Given the description of an element on the screen output the (x, y) to click on. 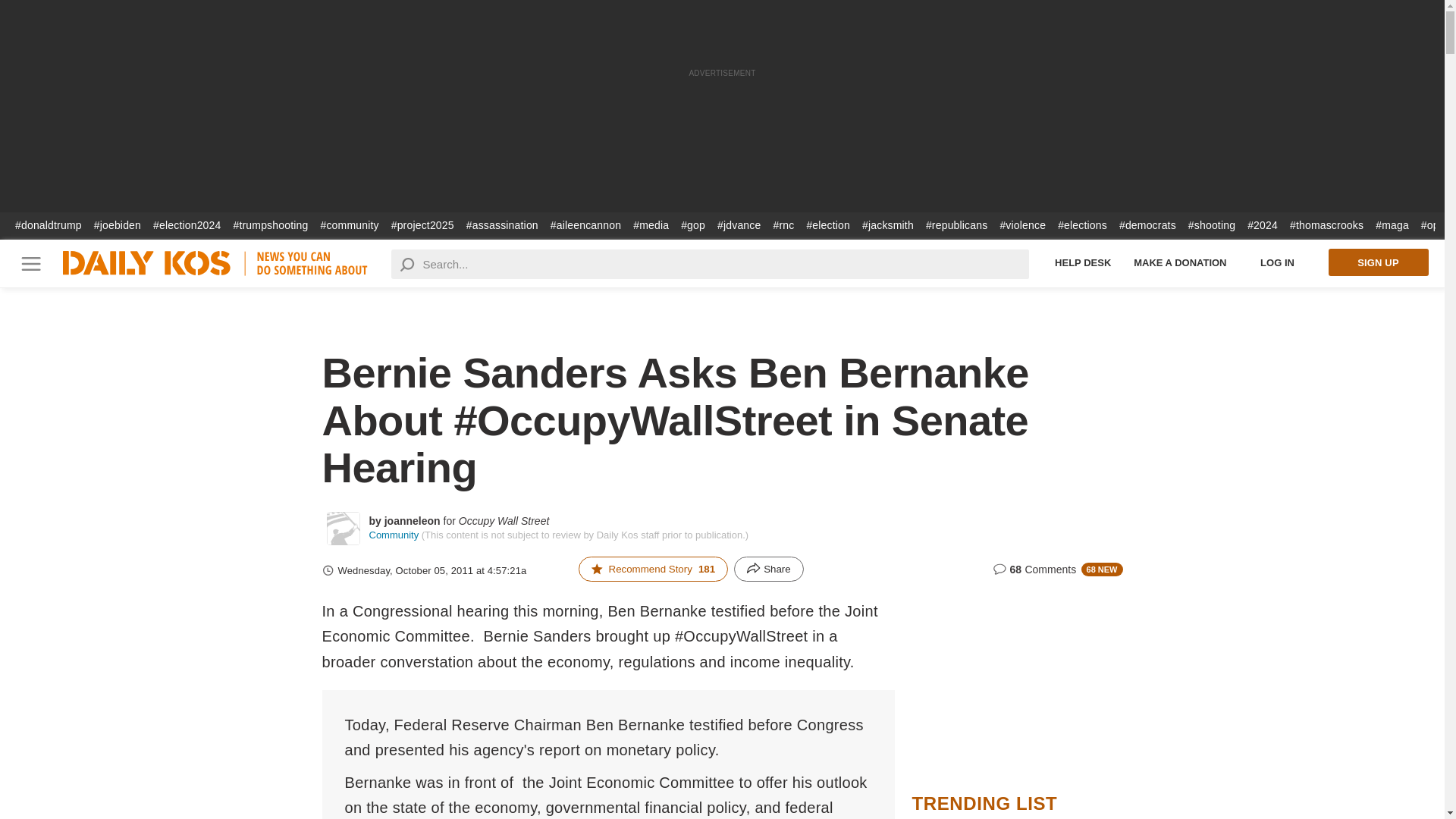
Help Desk (1082, 262)
Make a Donation (1179, 262)
MAKE A DONATION (1179, 262)
